Given the description of an element on the screen output the (x, y) to click on. 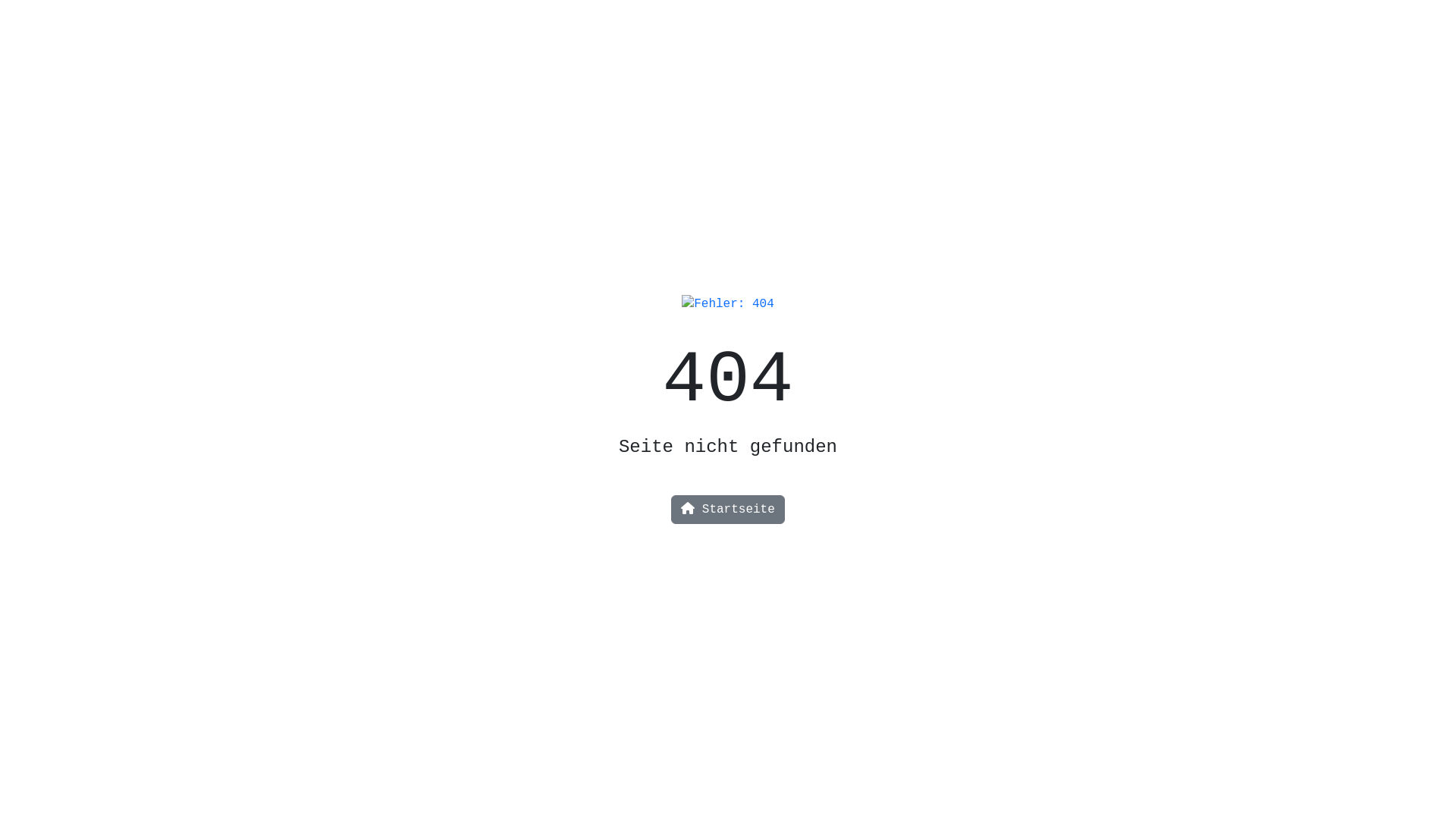
Startseite Element type: text (727, 509)
